Given the description of an element on the screen output the (x, y) to click on. 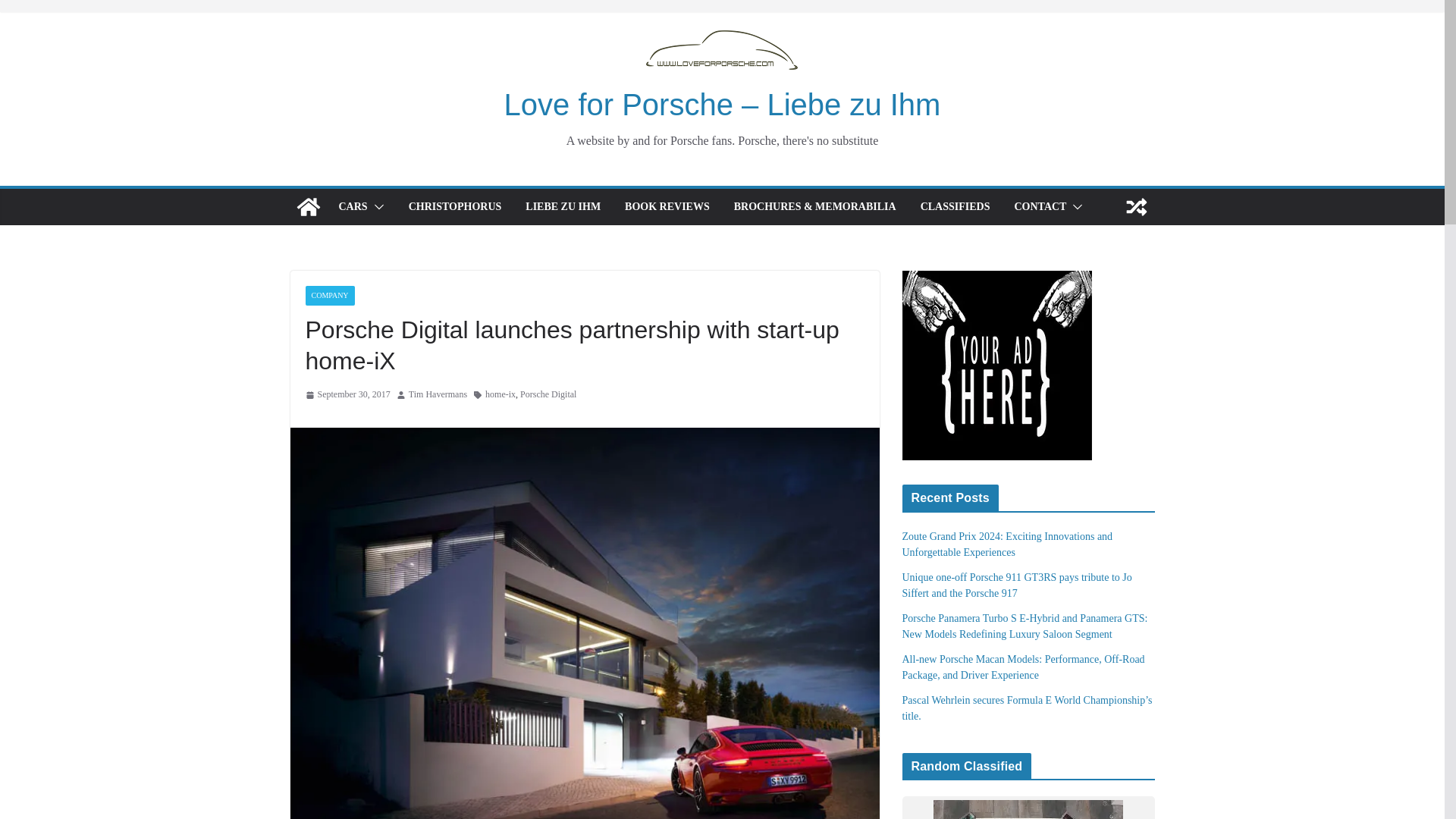
CHRISTOPHORUS (455, 206)
Porsche brochures, literature and memorabilia (814, 206)
View a random post (1136, 207)
Tim Havermans (438, 394)
CARS (351, 206)
10:00 am (347, 394)
LIEBE ZU IHM (562, 206)
